Given the description of an element on the screen output the (x, y) to click on. 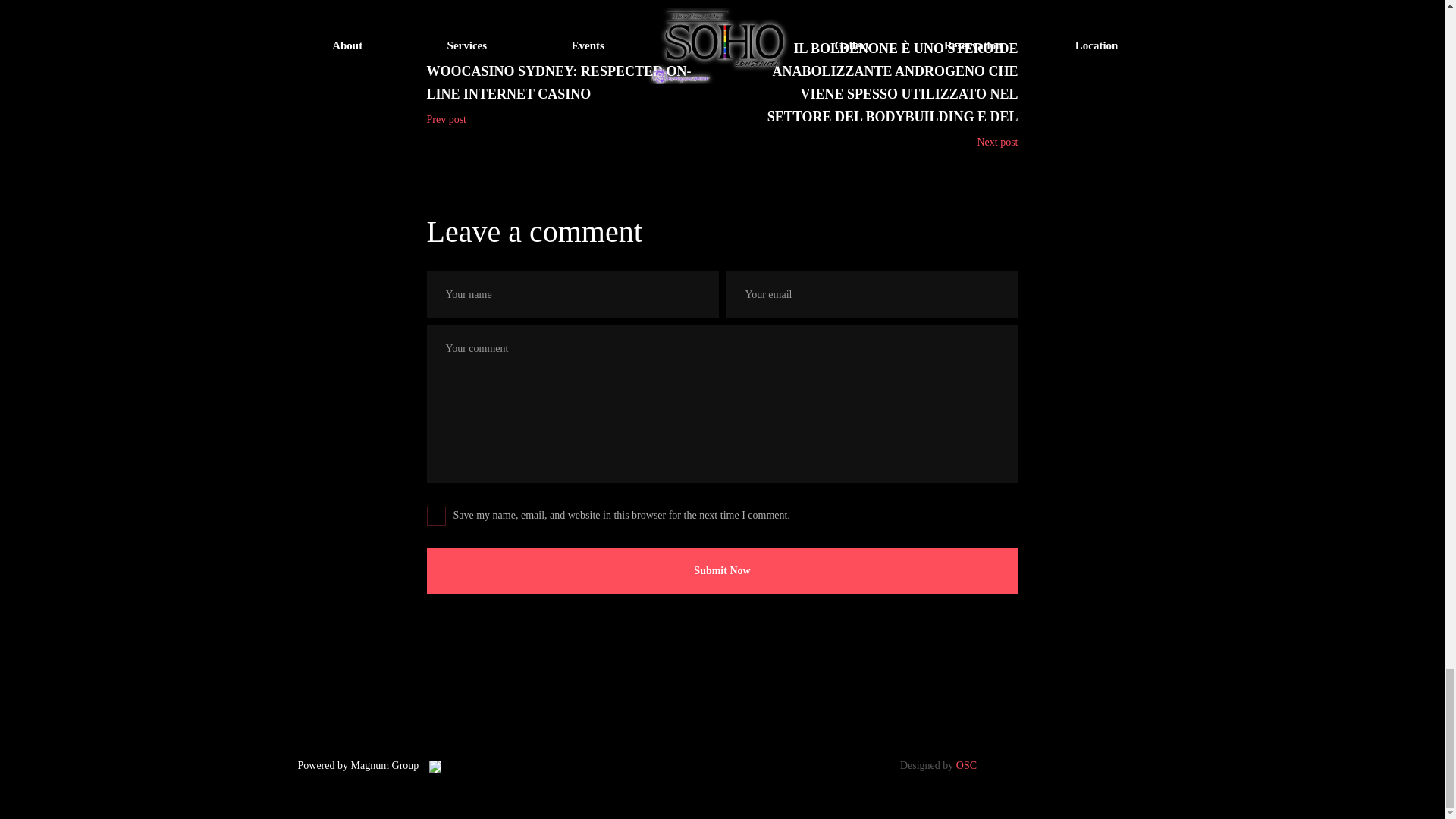
Submit Now (721, 570)
Submit Now (721, 570)
WOOCASINO SYDNEY: RESPECTED ON-LINE INTERNET CASINO (568, 82)
OSC (966, 765)
